Given the description of an element on the screen output the (x, y) to click on. 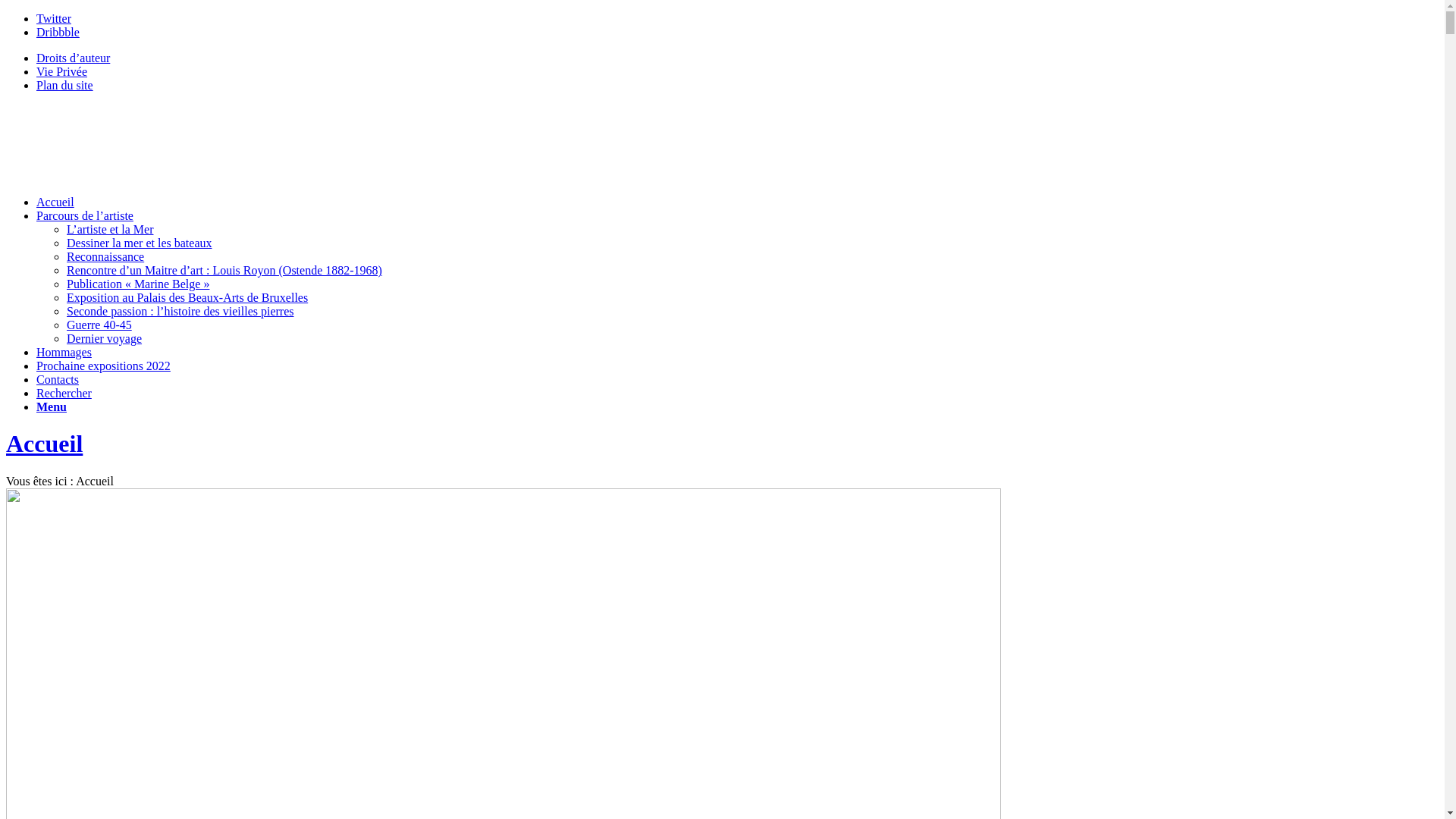
Accueil Element type: text (55, 201)
Dessiner la mer et les bateaux Element type: text (138, 242)
Contacts Element type: text (57, 379)
Accueil Element type: text (44, 443)
Menu Element type: text (51, 406)
Prochaine expositions 2022 Element type: text (103, 365)
Guerre 40-45 Element type: text (98, 324)
Dribbble Element type: text (57, 31)
Hommages Element type: text (63, 351)
Twitter Element type: text (53, 18)
Rechercher Element type: text (63, 392)
Exposition au Palais des Beaux-Arts de Bruxelles Element type: text (186, 297)
Dernier voyage Element type: text (103, 338)
Plan du site Element type: text (64, 84)
Reconnaissance Element type: text (105, 256)
